Given the description of an element on the screen output the (x, y) to click on. 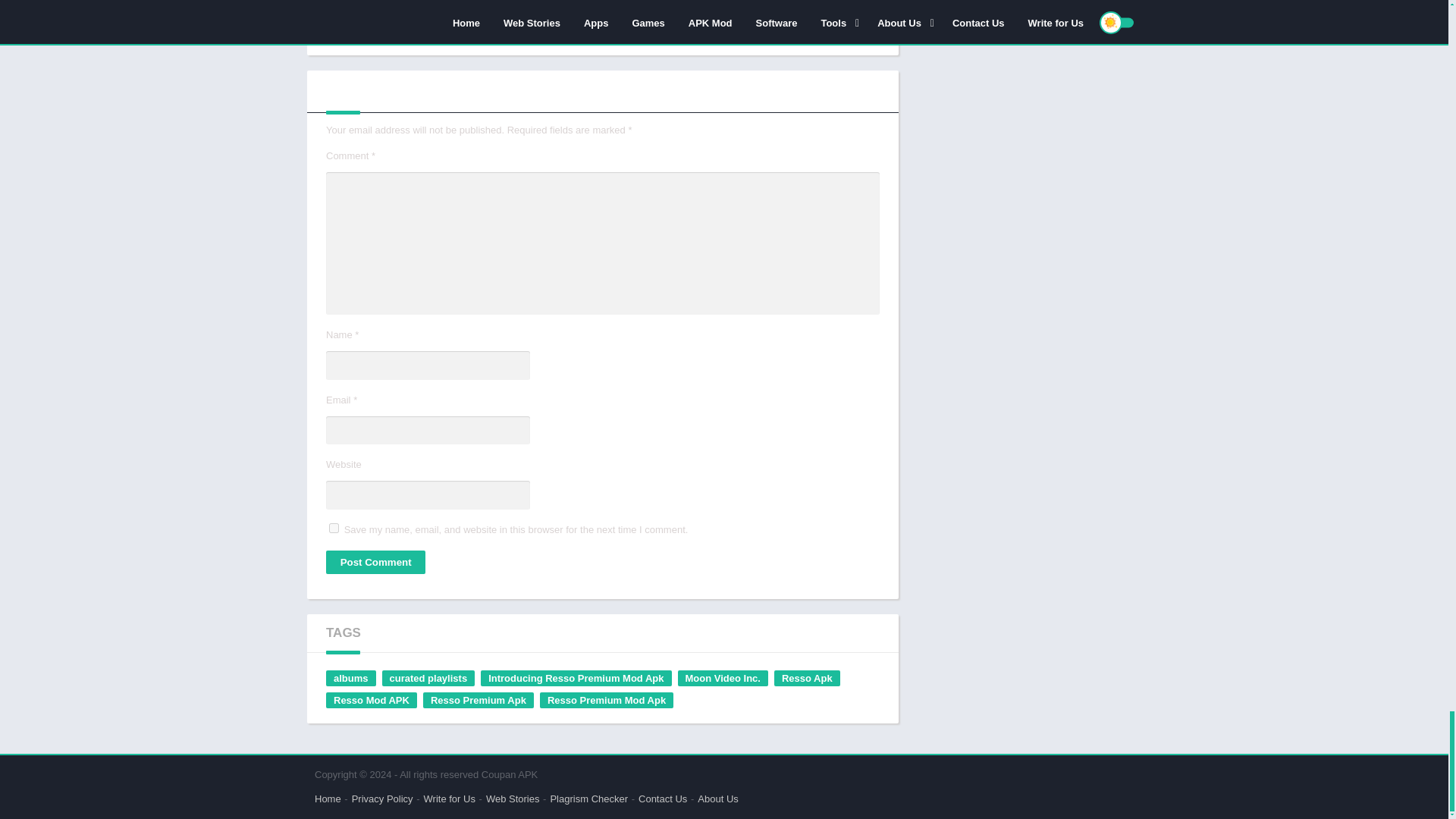
Post Comment (375, 562)
yes (334, 528)
